Given the description of an element on the screen output the (x, y) to click on. 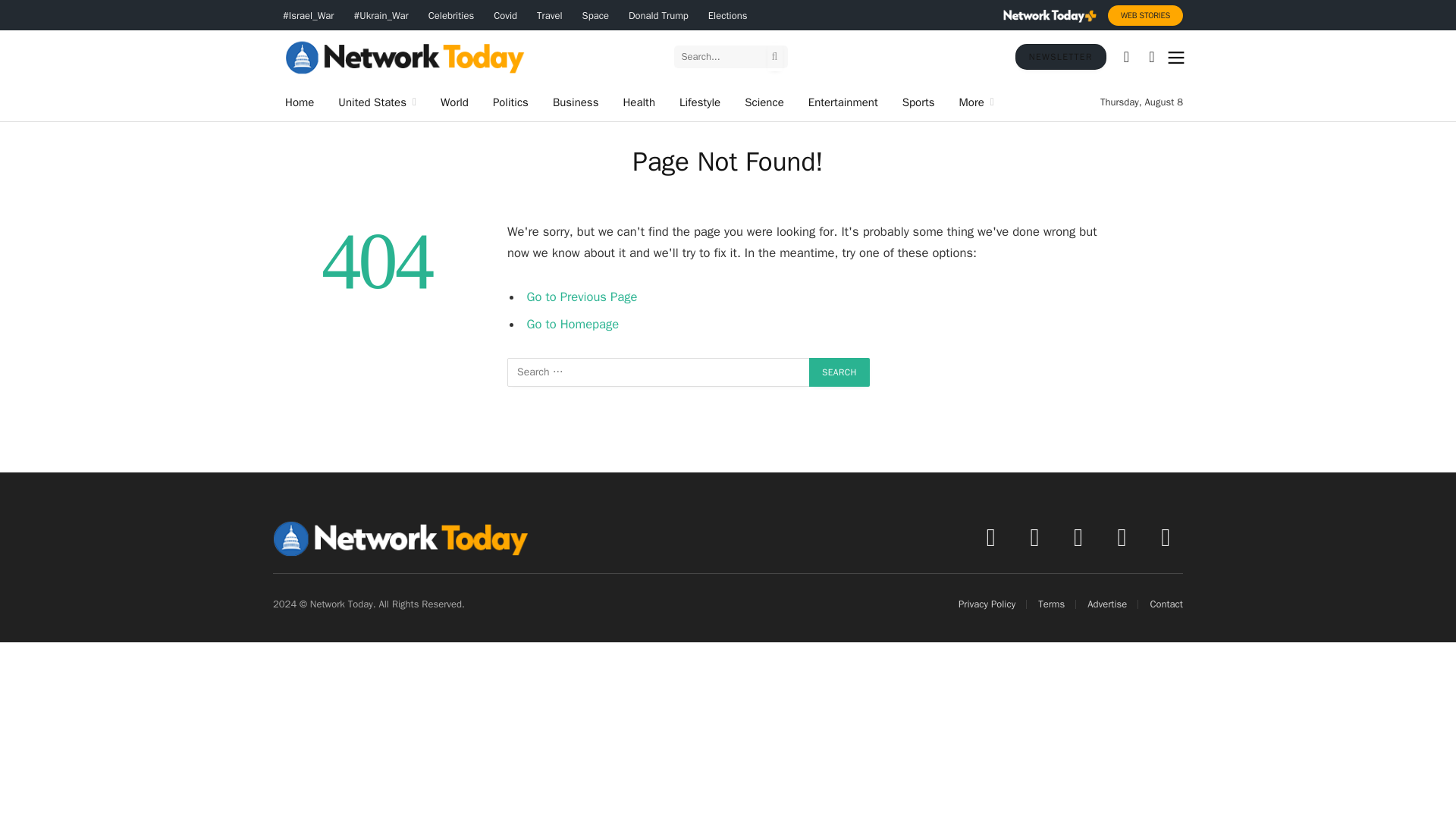
Switch to Dark Design - easier on eyes. (1151, 56)
Covid (505, 15)
Space (595, 15)
Search (839, 371)
WEB STORIES (1145, 14)
Network Today (405, 56)
Travel (549, 15)
NEWSLETTER (1060, 56)
Search (839, 371)
Donald Trump (658, 15)
